Given the description of an element on the screen output the (x, y) to click on. 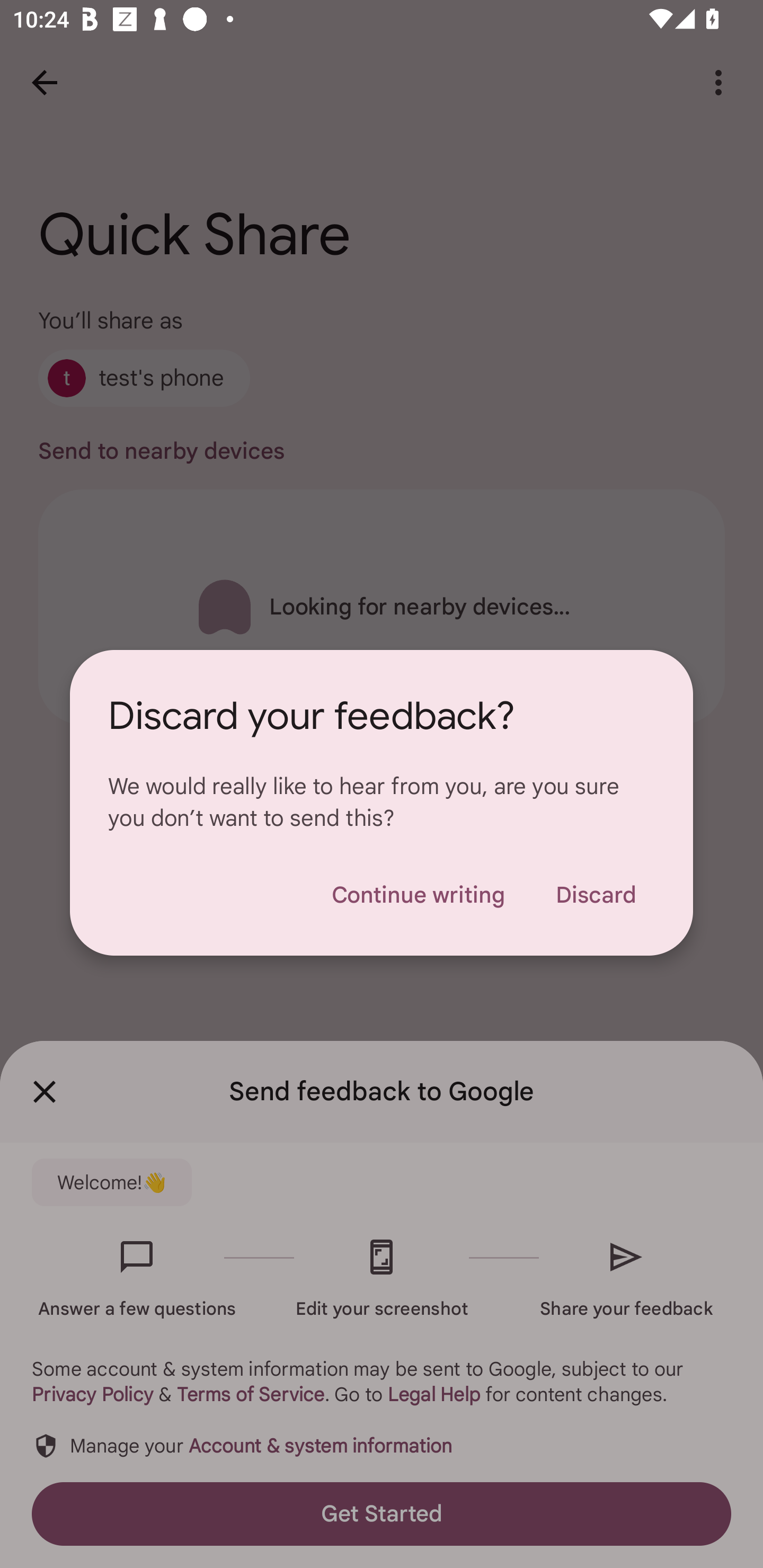
Continue writing (417, 894)
Discard (595, 894)
